Given the description of an element on the screen output the (x, y) to click on. 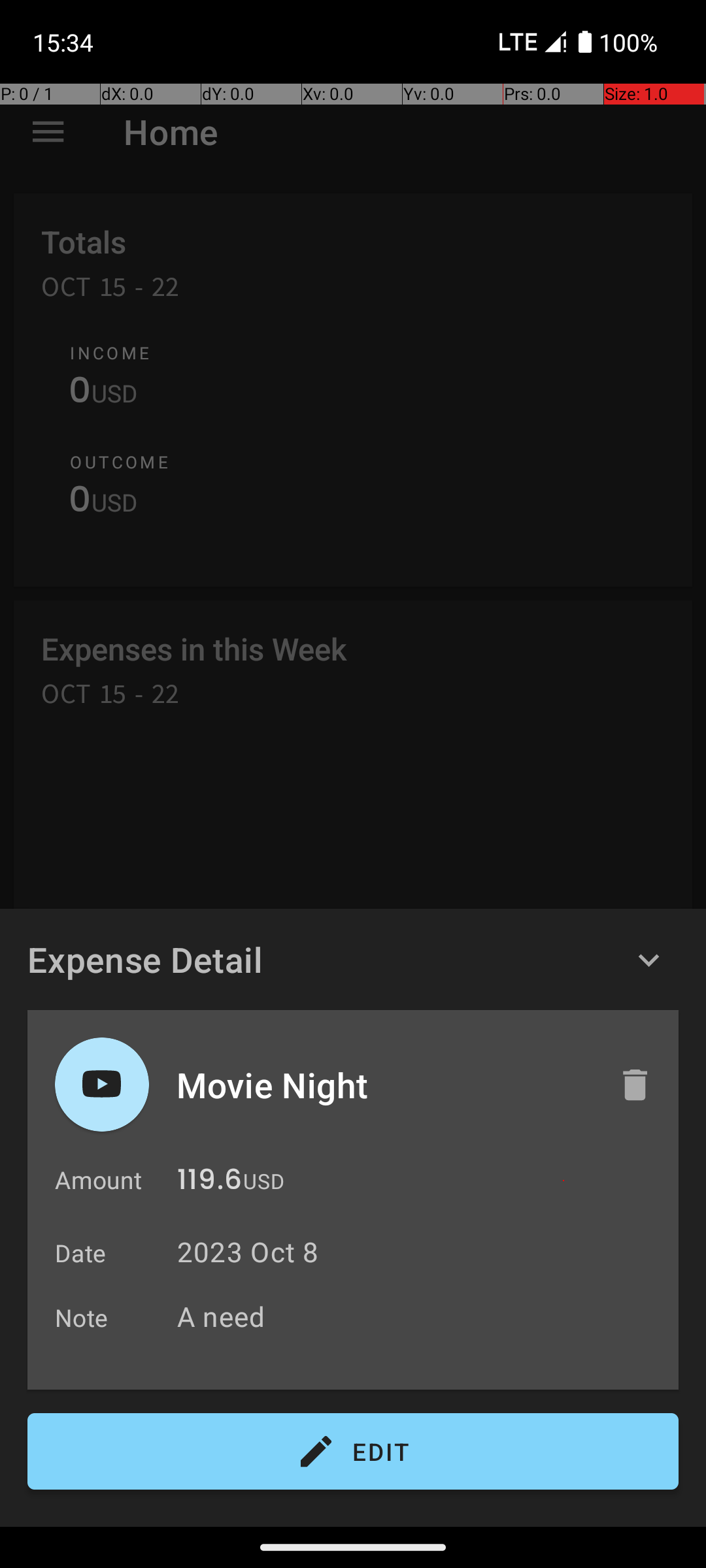
Movie Night Element type: android.widget.TextView (383, 1084)
119.6 Element type: android.widget.TextView (209, 1182)
